Given the description of an element on the screen output the (x, y) to click on. 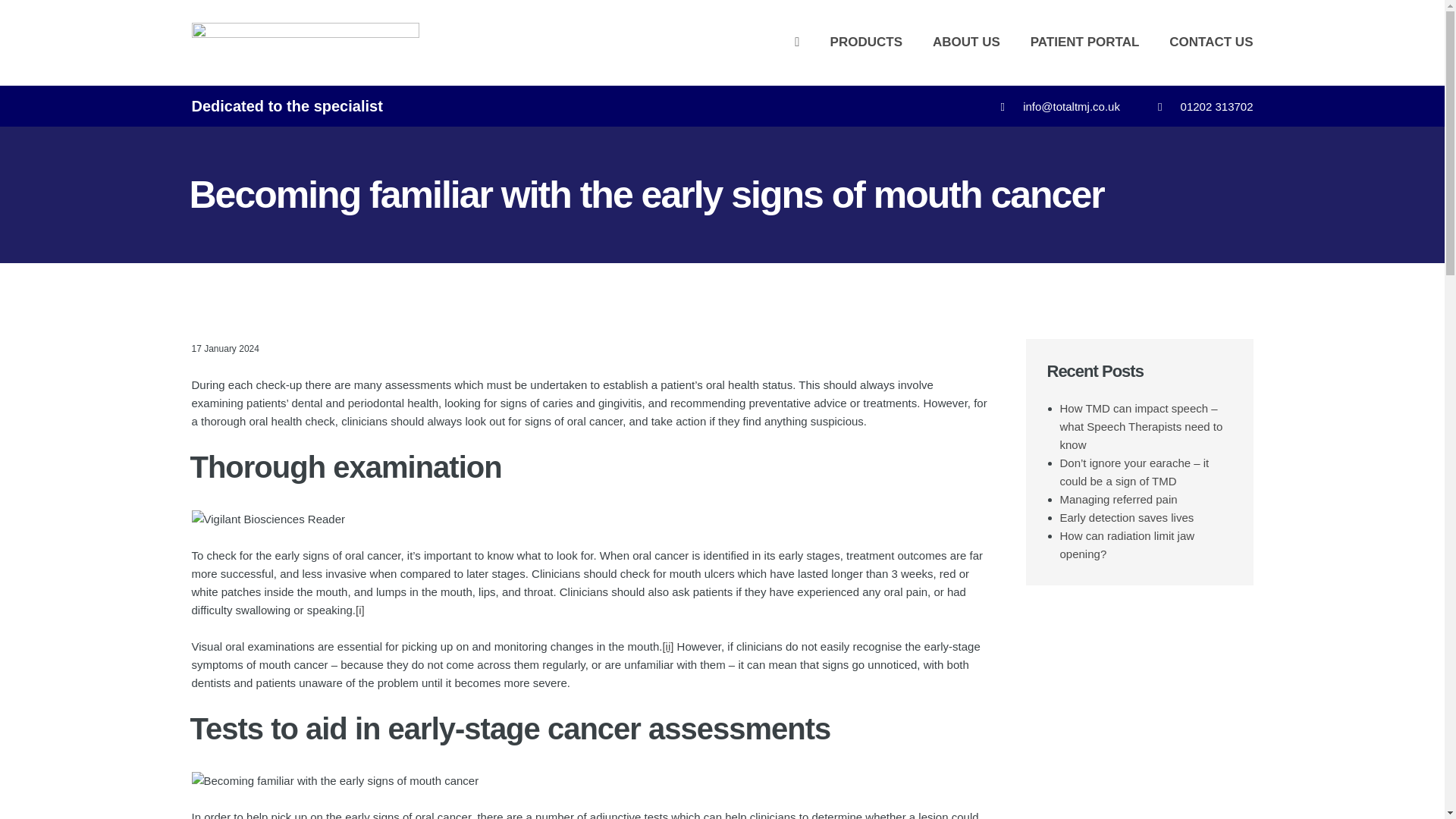
01202 313702 (1216, 106)
PRODUCTS (865, 42)
ABOUT US (966, 42)
Managing referred pain (1118, 499)
CONTACT US (1210, 42)
PATIENT PORTAL (1085, 42)
